Given the description of an element on the screen output the (x, y) to click on. 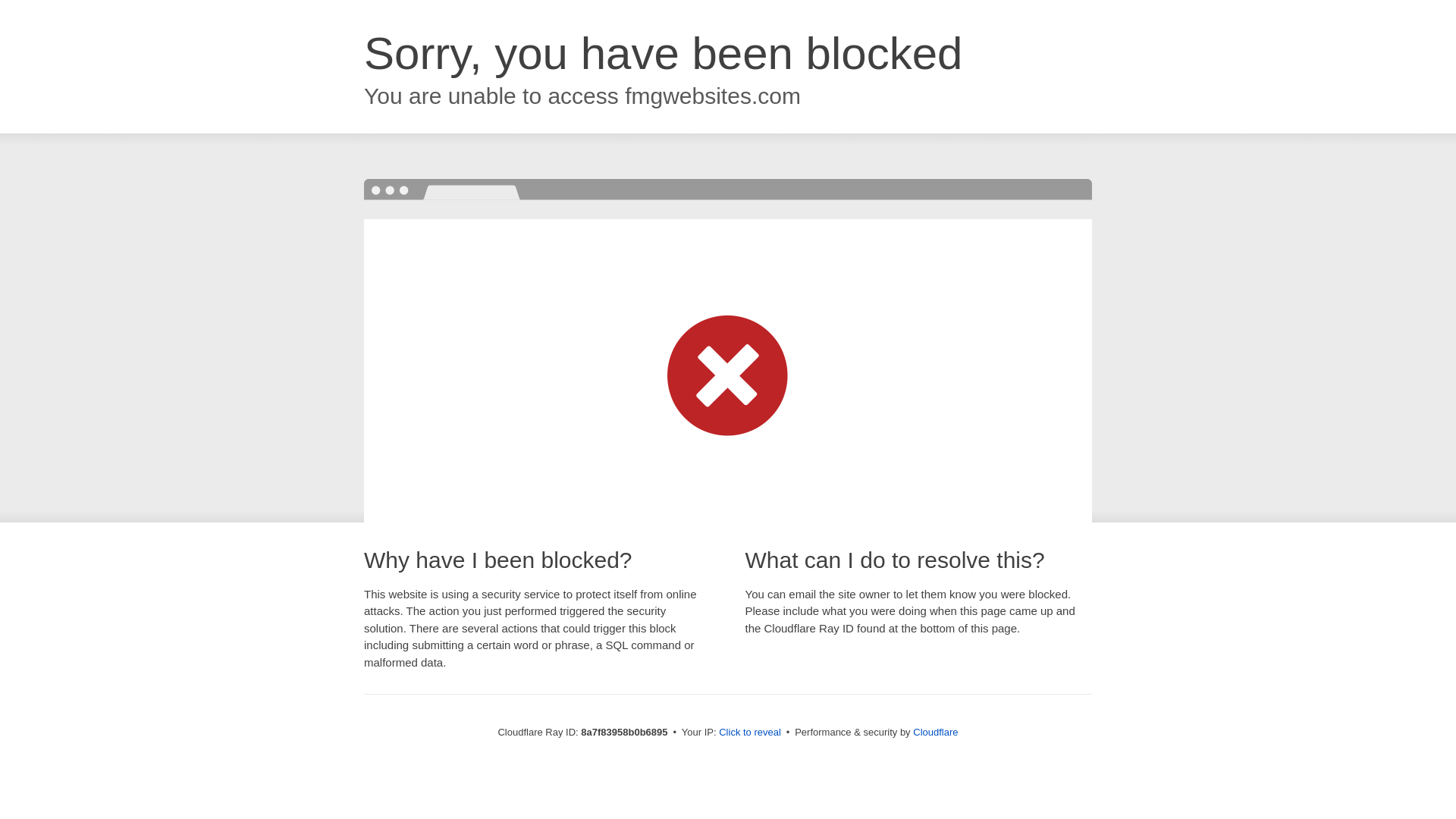
Click to reveal (749, 732)
Cloudflare (935, 731)
